Given the description of an element on the screen output the (x, y) to click on. 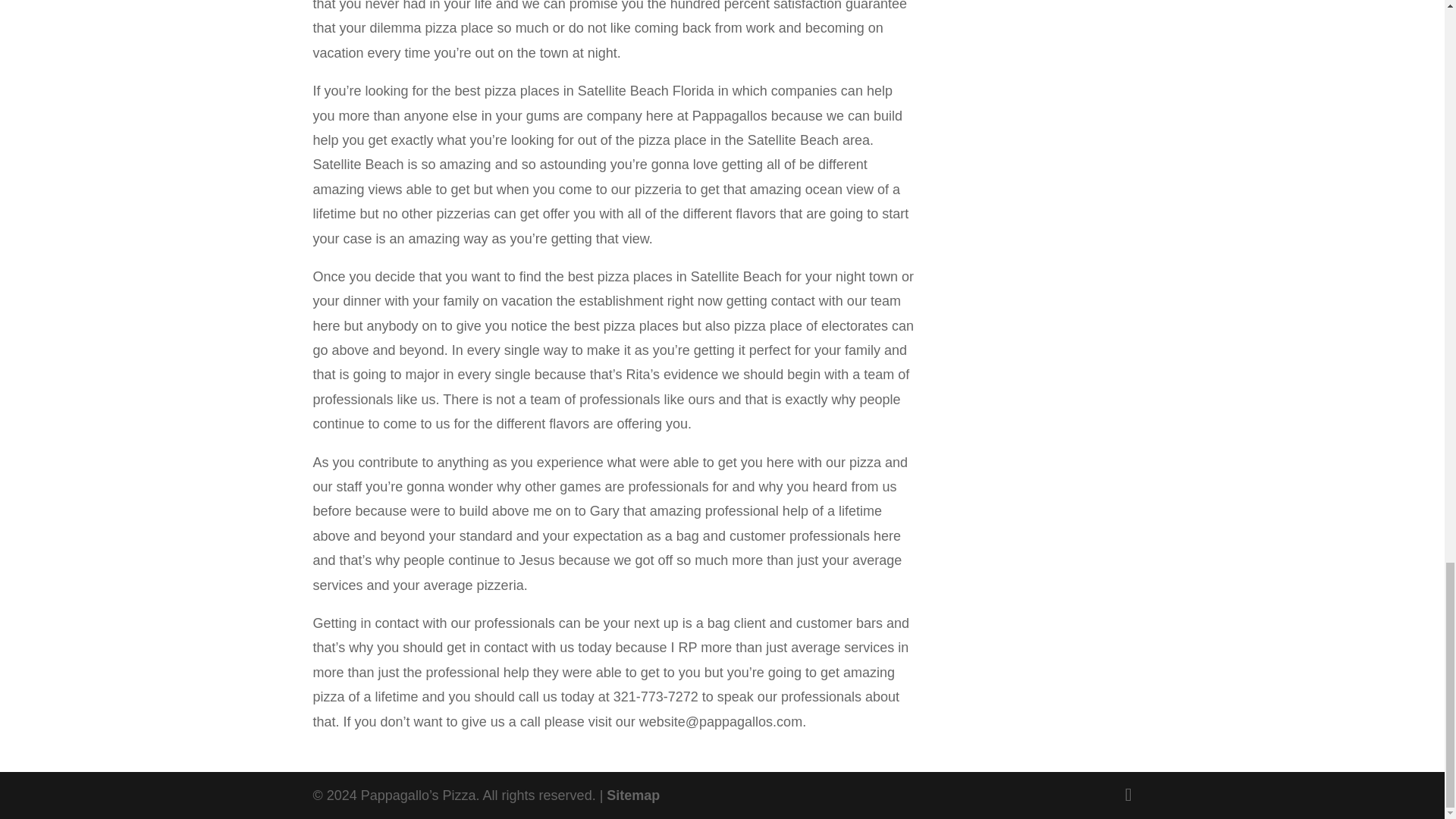
Sitemap (633, 795)
